Given the description of an element on the screen output the (x, y) to click on. 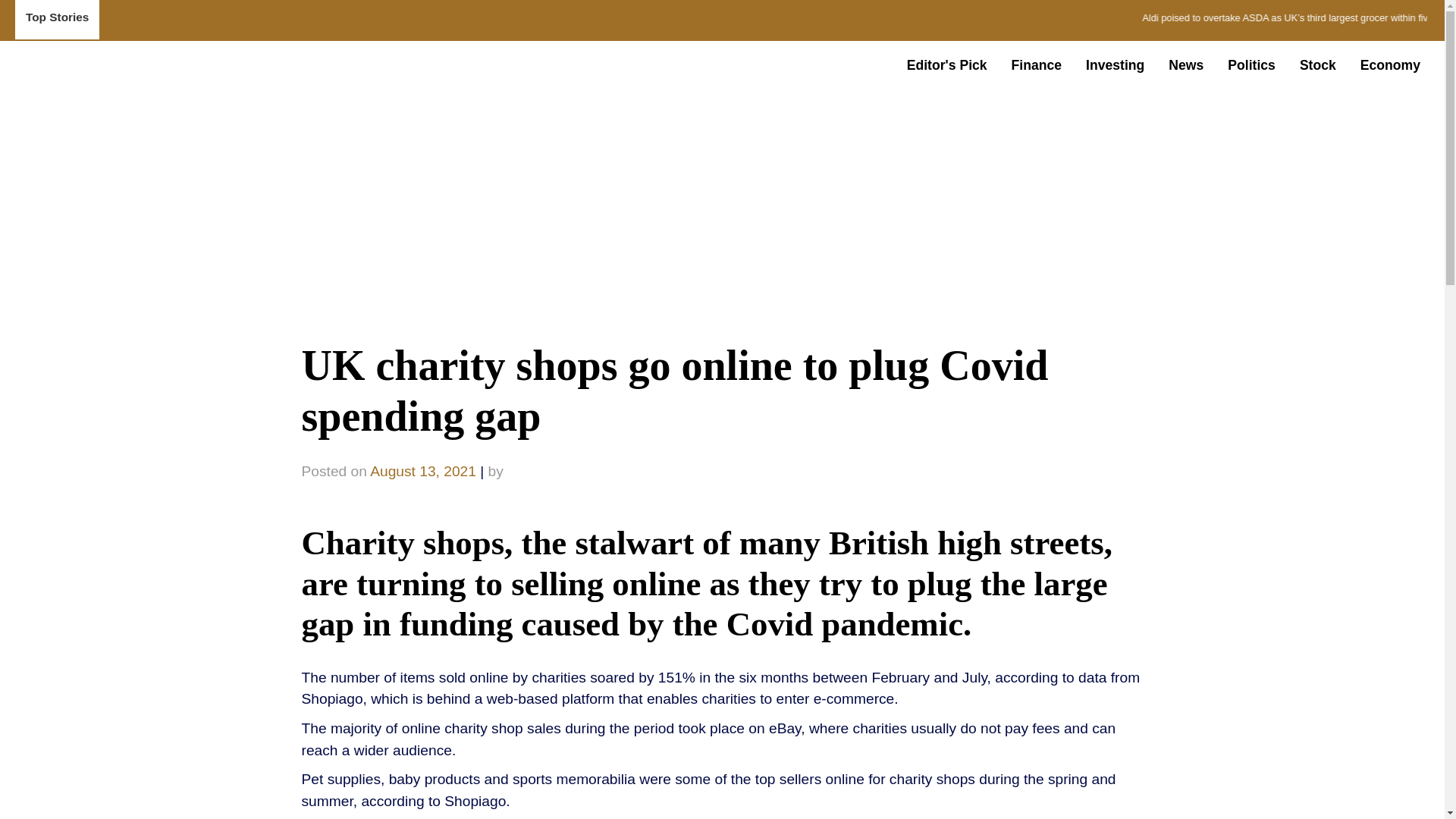
News (1185, 65)
Stock (1317, 65)
Editor's Pick (946, 65)
Investing (1115, 65)
Politics (1251, 65)
Stock (1317, 65)
Economy (1390, 65)
Finance (1036, 65)
August 13, 2021 (422, 471)
Finance (1036, 65)
